Given the description of an element on the screen output the (x, y) to click on. 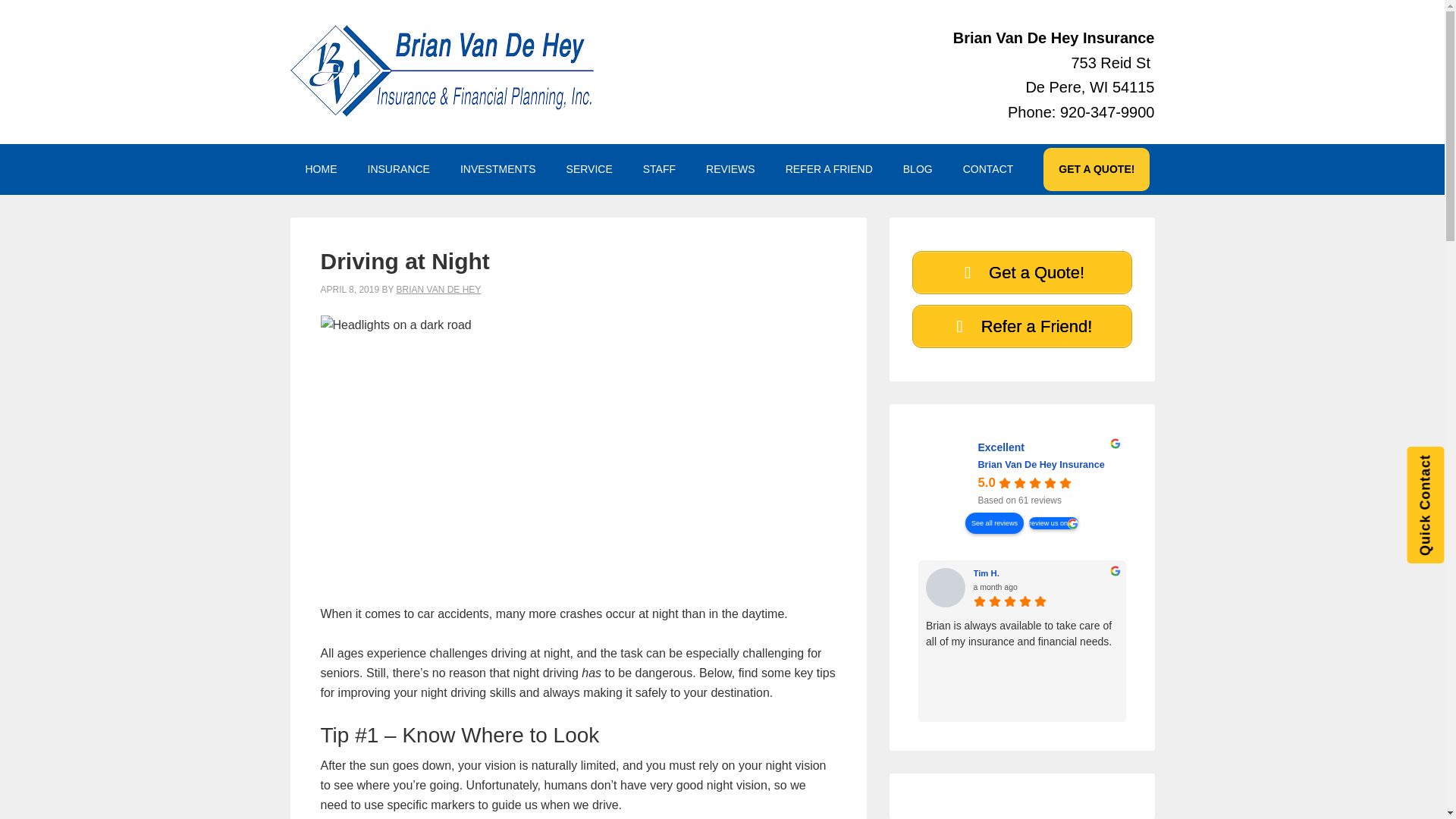
Tim H. (1046, 573)
GET A QUOTE! (1096, 169)
STAFF (658, 169)
INVESTMENTS (498, 169)
REVIEWS (730, 169)
INSURANCE (398, 169)
Tim S. (1171, 587)
Tim S. (1271, 573)
REFER A FRIEND (829, 169)
BLOG (917, 169)
CONTACT (988, 169)
920-347-9900 (1106, 111)
Brian Van De Hey Insurance (949, 473)
Jenna N. (1396, 587)
